Given the description of an element on the screen output the (x, y) to click on. 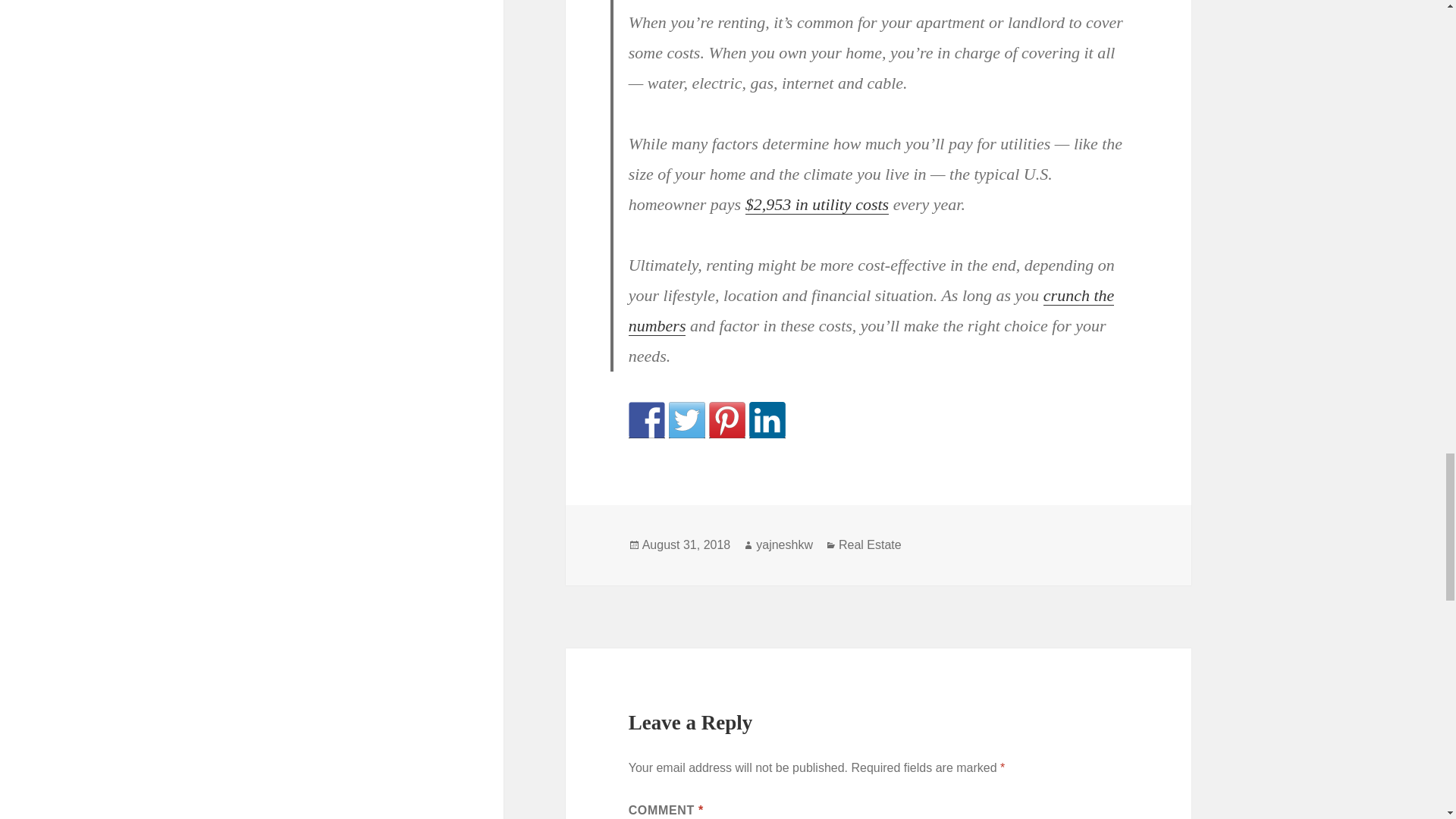
yajneshkw (783, 545)
Real Estate (869, 545)
Share on Twitter (686, 420)
August 31, 2018 (686, 545)
crunch the numbers (871, 310)
Share on Facebook (646, 420)
